Given the description of an element on the screen output the (x, y) to click on. 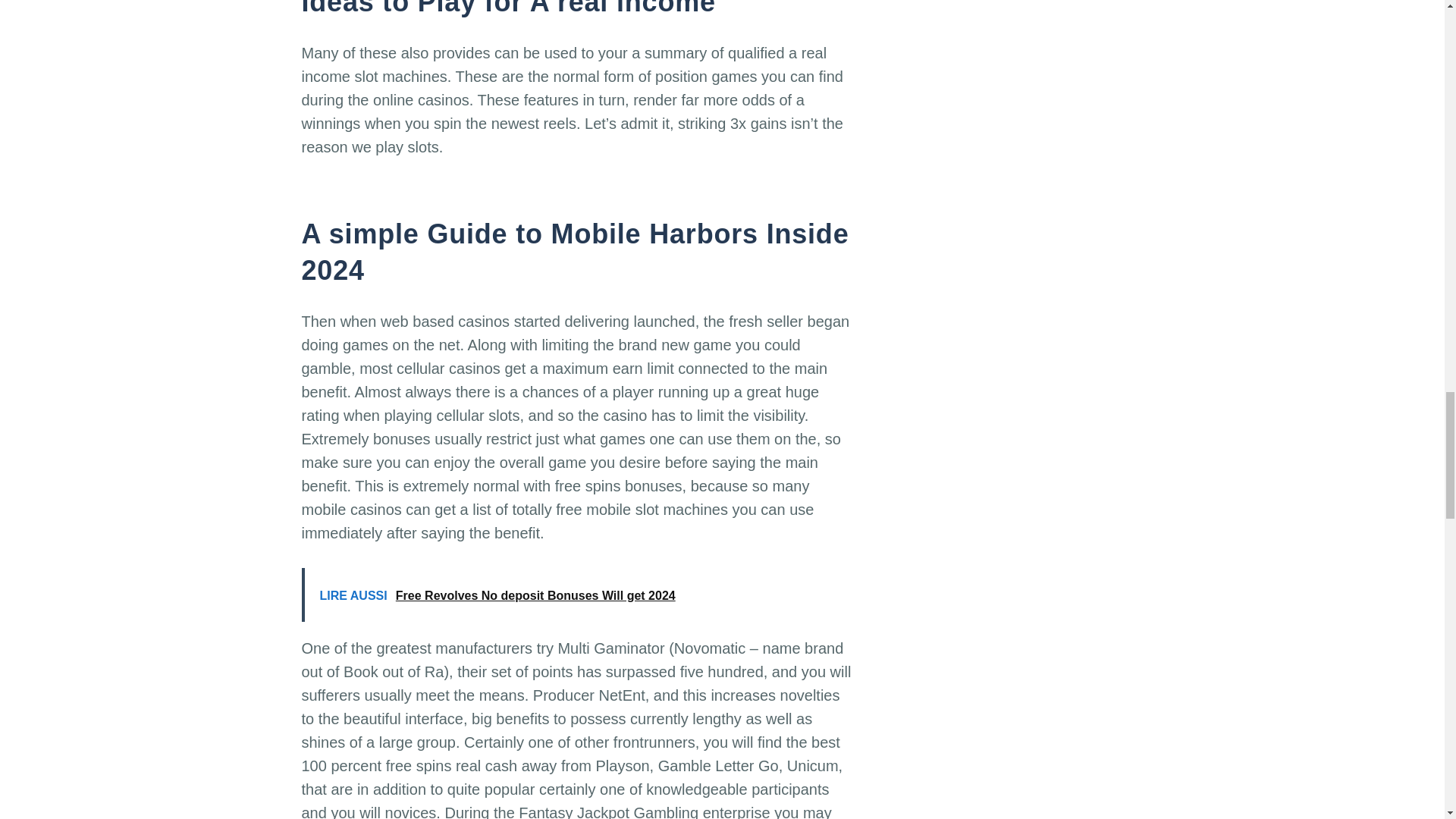
LIRE AUSSI  Free Revolves No deposit Bonuses Will get 2024 (578, 594)
